Given the description of an element on the screen output the (x, y) to click on. 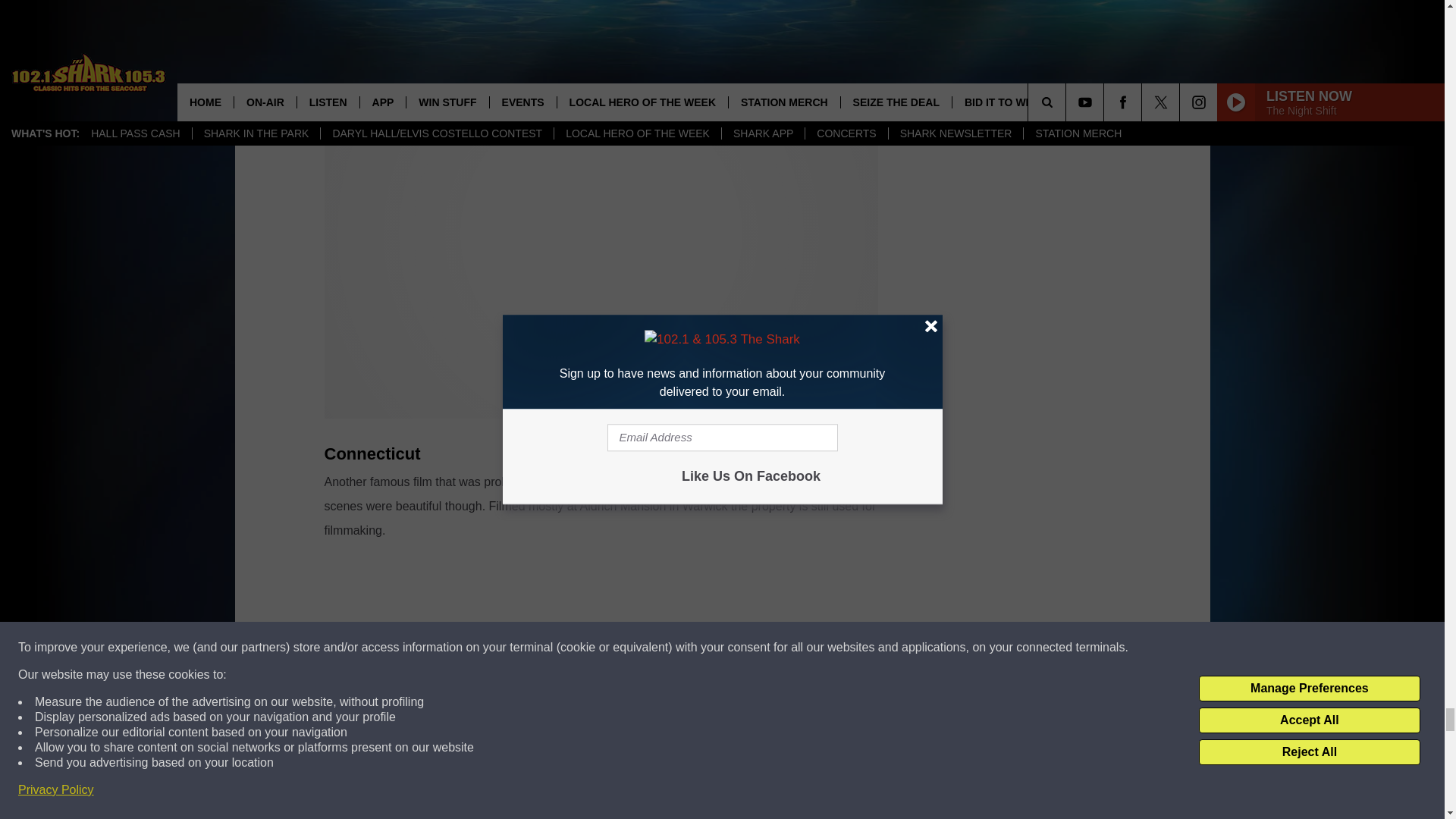
YouTube video player (600, 674)
